Given the description of an element on the screen output the (x, y) to click on. 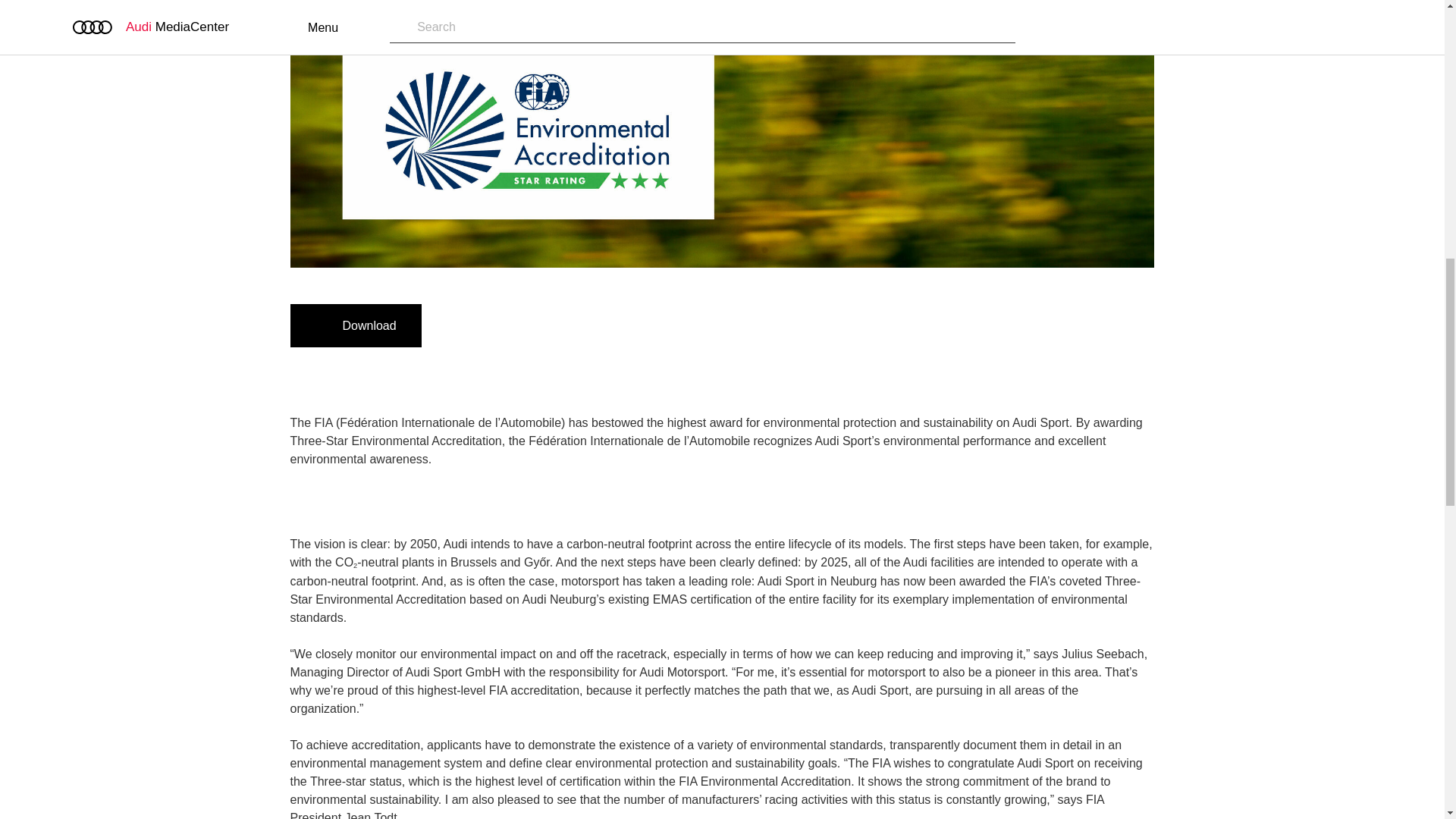
Download (354, 325)
Copy MediaInfo URL (485, 325)
Share this page (521, 325)
Add to cart (448, 325)
